Given the description of an element on the screen output the (x, y) to click on. 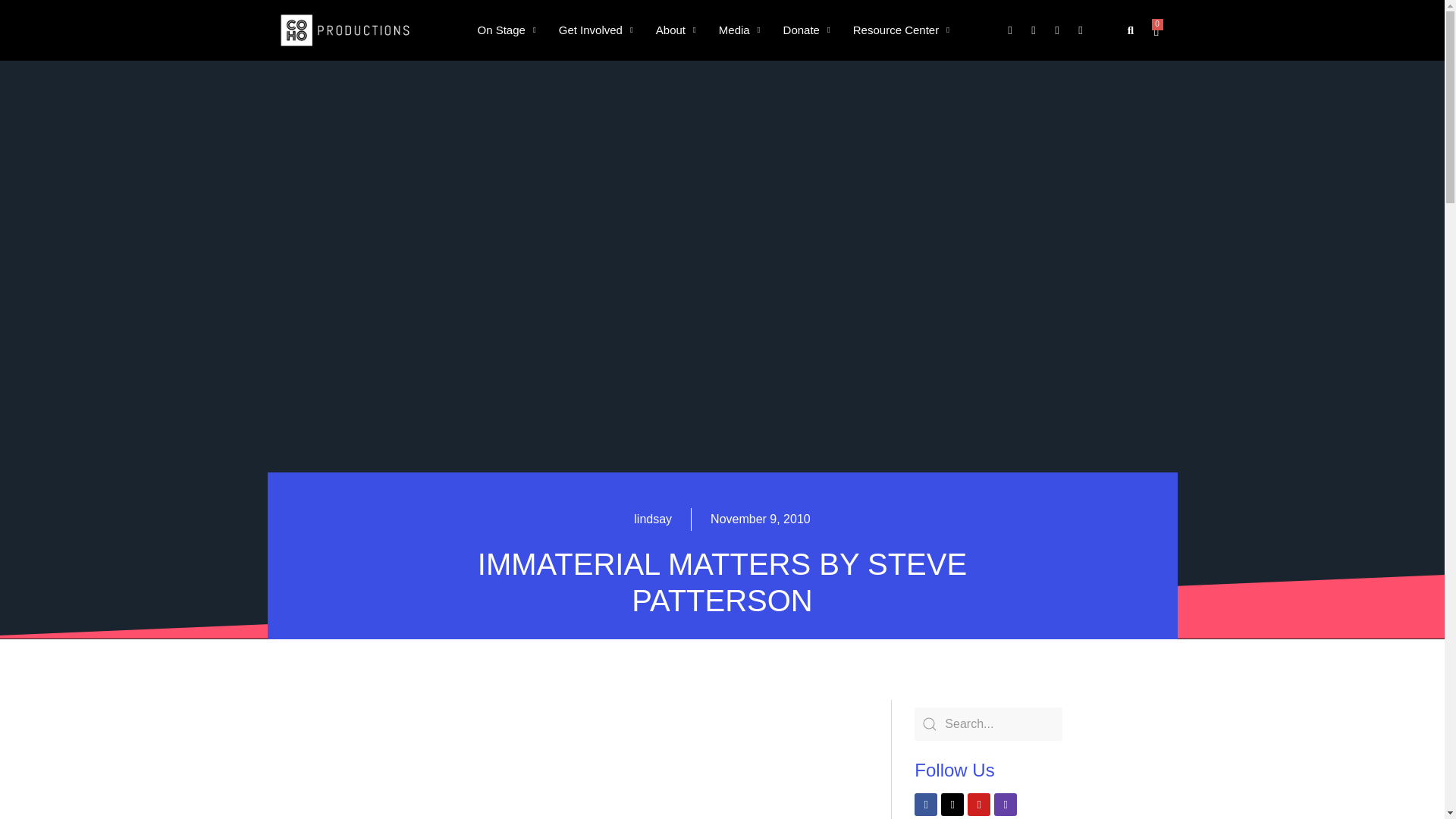
Search (988, 724)
Media (739, 30)
Resource Center (900, 30)
Search (1115, 30)
Donate (806, 30)
About (676, 30)
On Stage (506, 30)
Get Involved (596, 30)
